Given the description of an element on the screen output the (x, y) to click on. 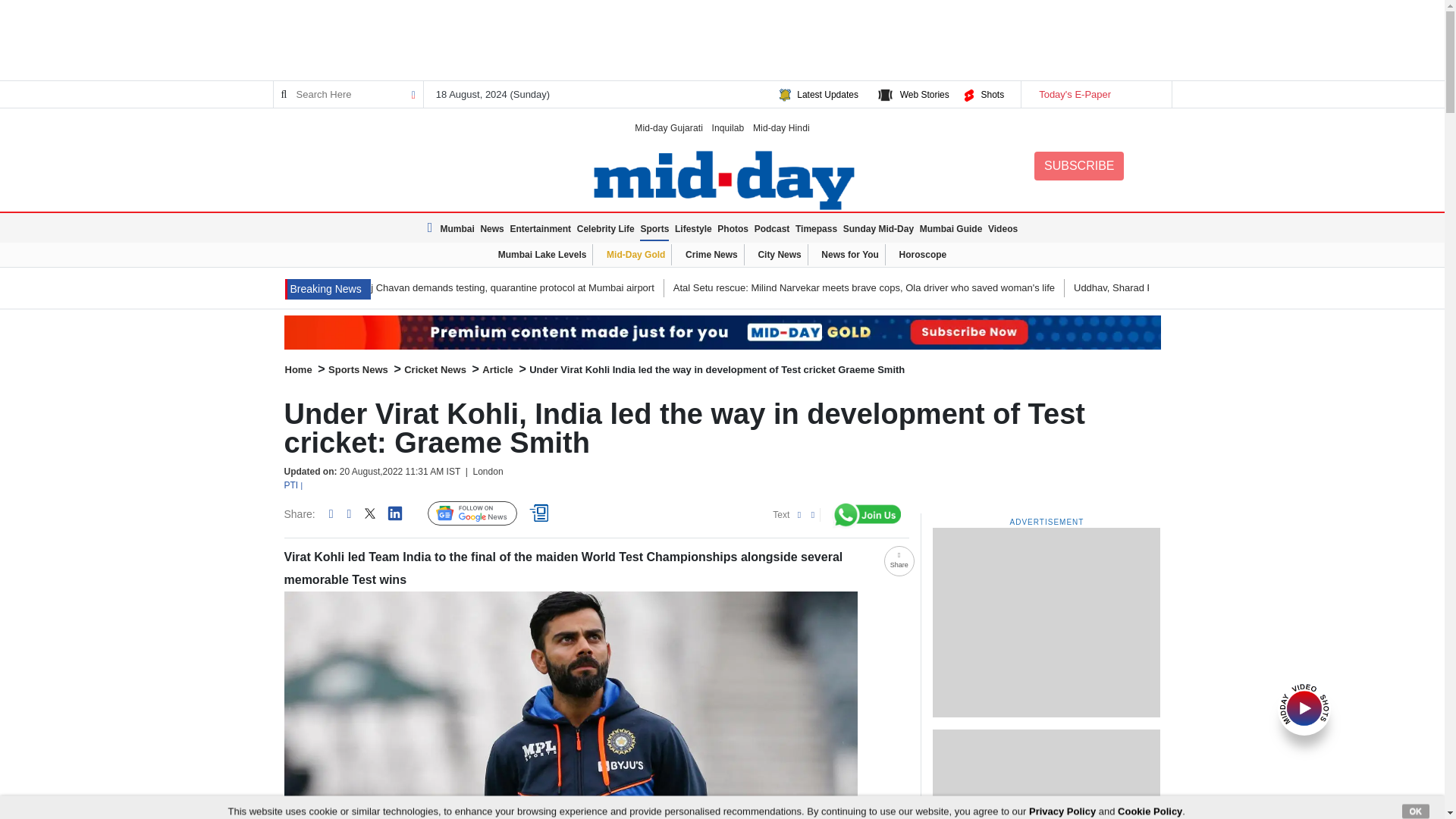
Quick Reads (541, 513)
Shots (991, 94)
Mid-day Hindi (780, 127)
Today's E-Paper (1095, 94)
Inquilab (728, 127)
Latest News (328, 289)
Mid-day Gujarati (668, 127)
Subscription (721, 332)
Latest News (432, 227)
